Given the description of an element on the screen output the (x, y) to click on. 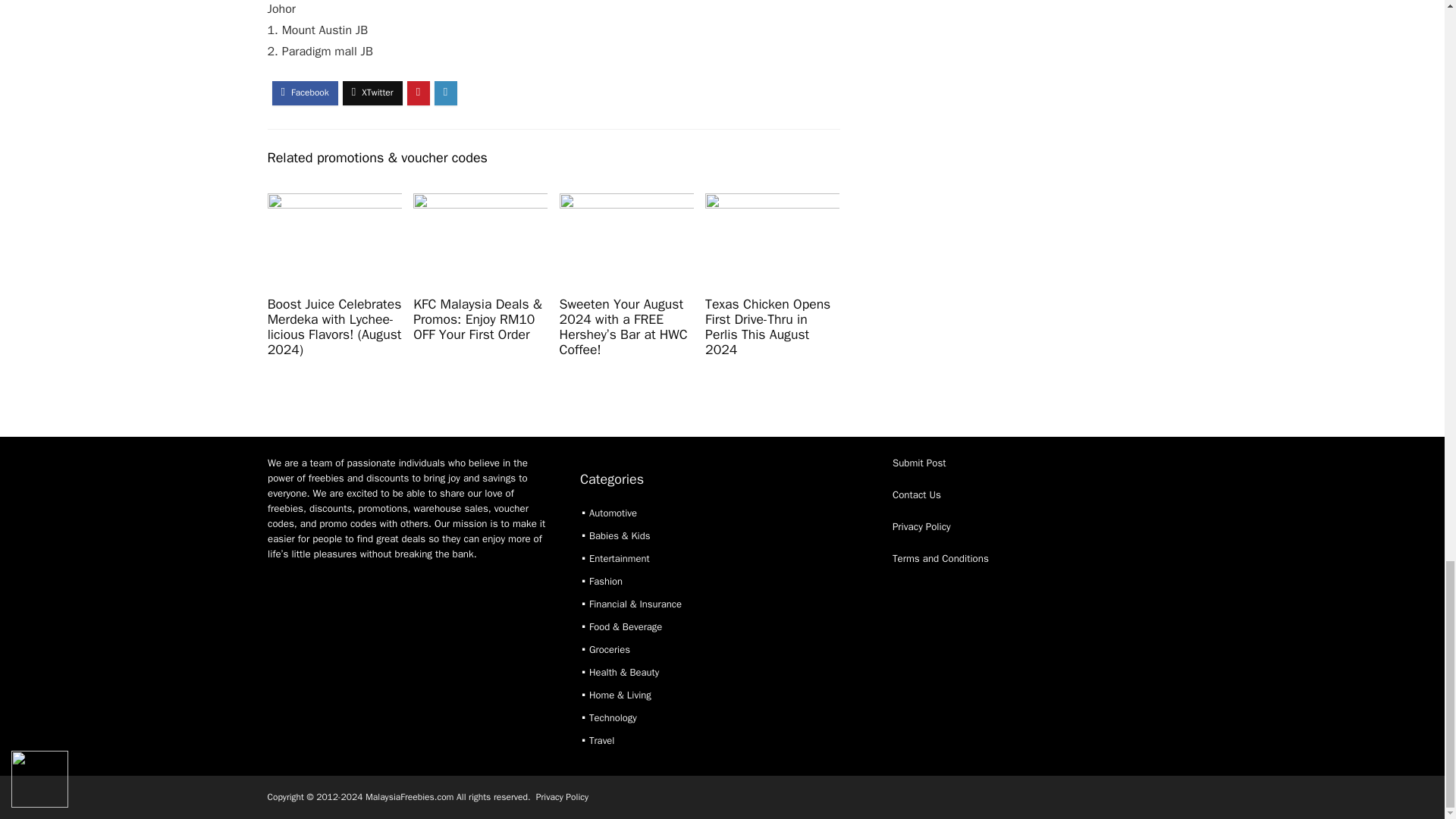
Automotive (613, 512)
